Given the description of an element on the screen output the (x, y) to click on. 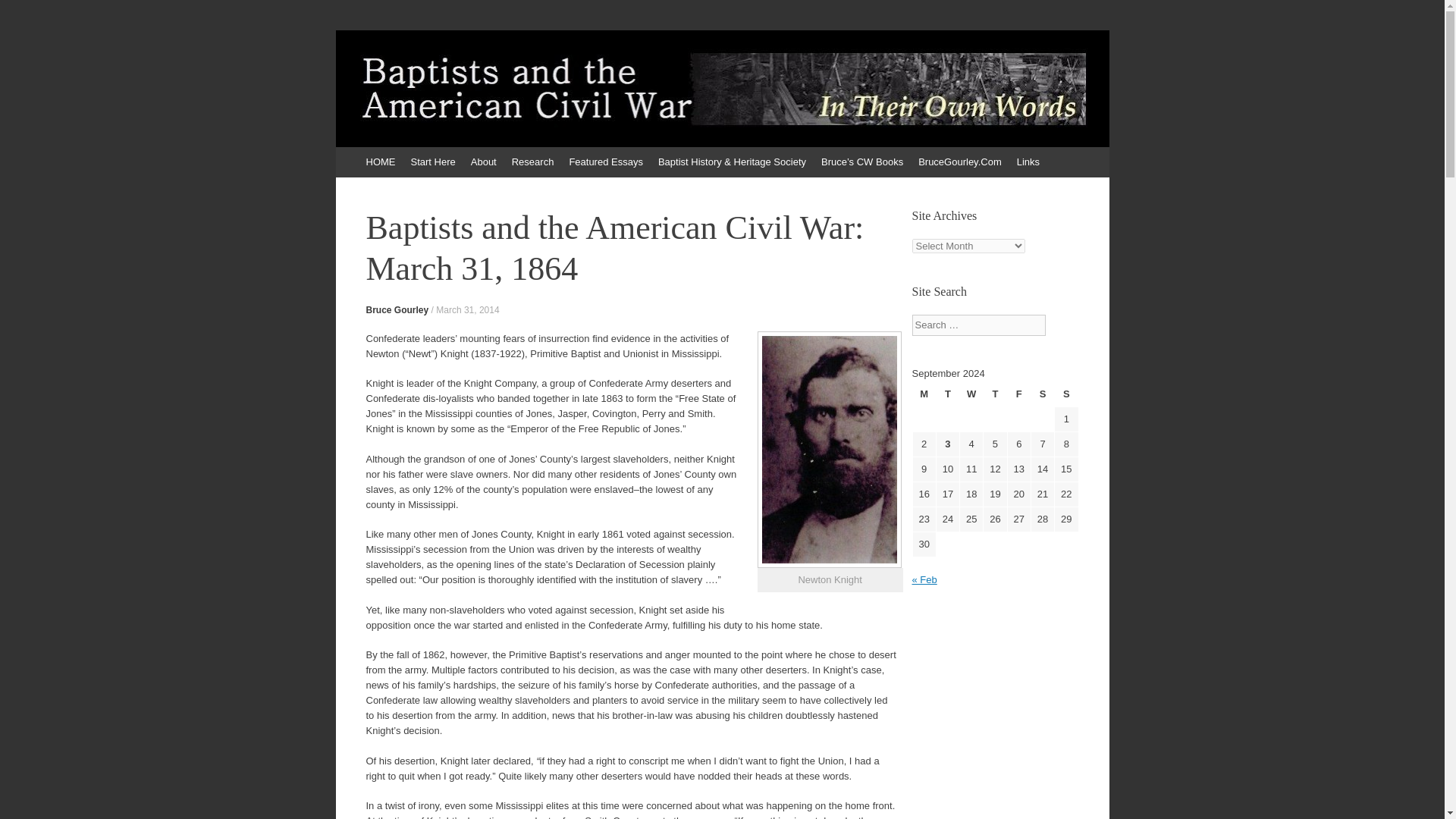
Sunday (1065, 394)
Links (1027, 162)
Wednesday (970, 394)
Thursday (995, 394)
BruceGourley.Com (960, 162)
Featured Essays (605, 162)
HOME (380, 162)
Saturday (1042, 394)
Research (532, 162)
March 31, 2014 (467, 309)
